Given the description of an element on the screen output the (x, y) to click on. 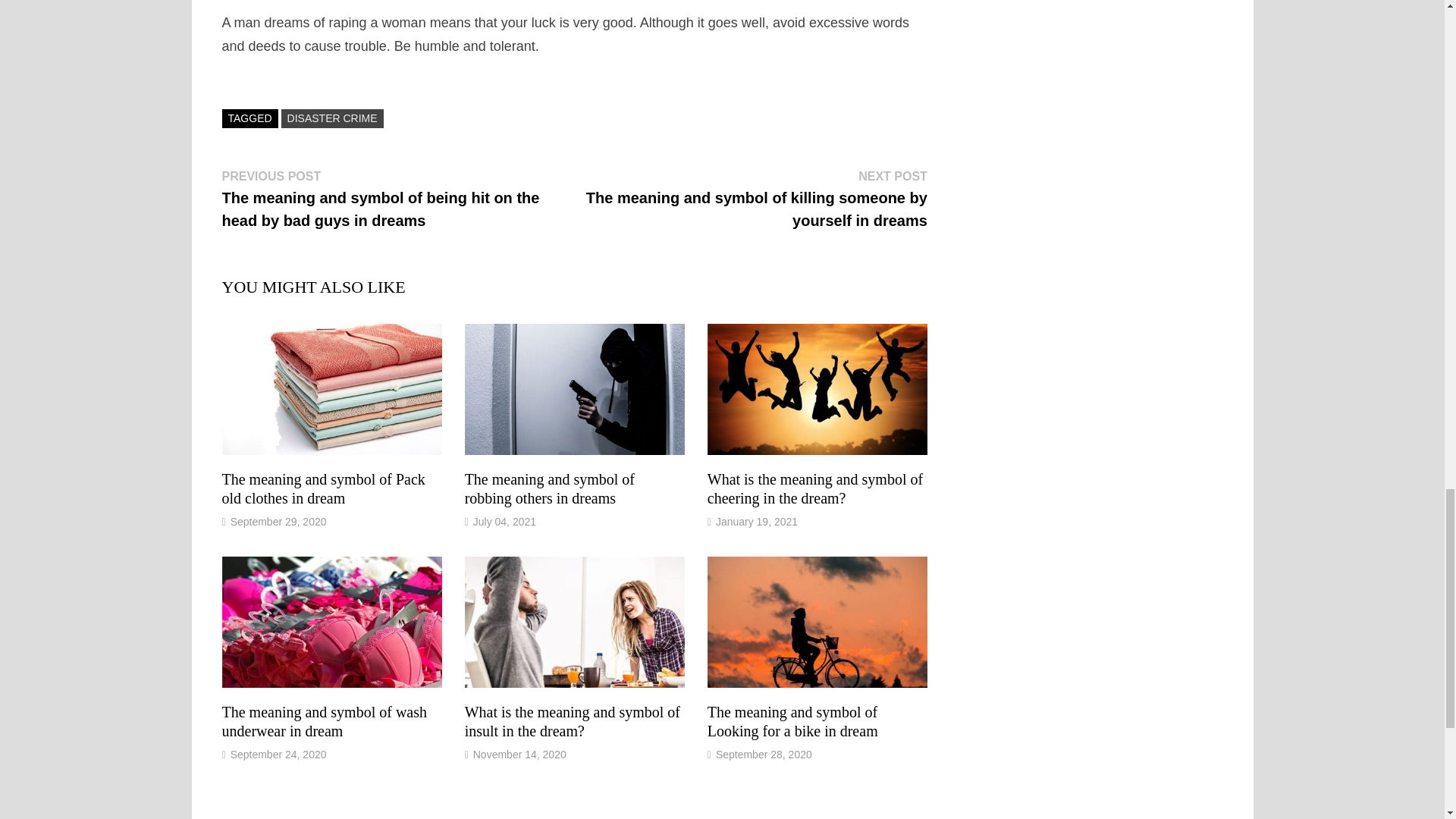
The meaning and symbol of robbing others in dreams (549, 488)
January 19, 2021 (756, 521)
November 14, 2020 (519, 754)
The meaning and symbol of wash underwear in dream (323, 721)
What is the meaning and symbol of insult in the dream? (571, 721)
What is the meaning and symbol of insult in the dream? (571, 721)
The meaning and symbol of Pack old clothes in dream (323, 488)
September 24, 2020 (278, 754)
The meaning and symbol of Looking for a bike in dream (792, 721)
The meaning and symbol of Pack old clothes in dream (323, 488)
The meaning and symbol of Looking for a bike in dream (792, 721)
July 04, 2021 (504, 521)
The meaning and symbol of wash underwear in dream (323, 721)
